Given the description of an element on the screen output the (x, y) to click on. 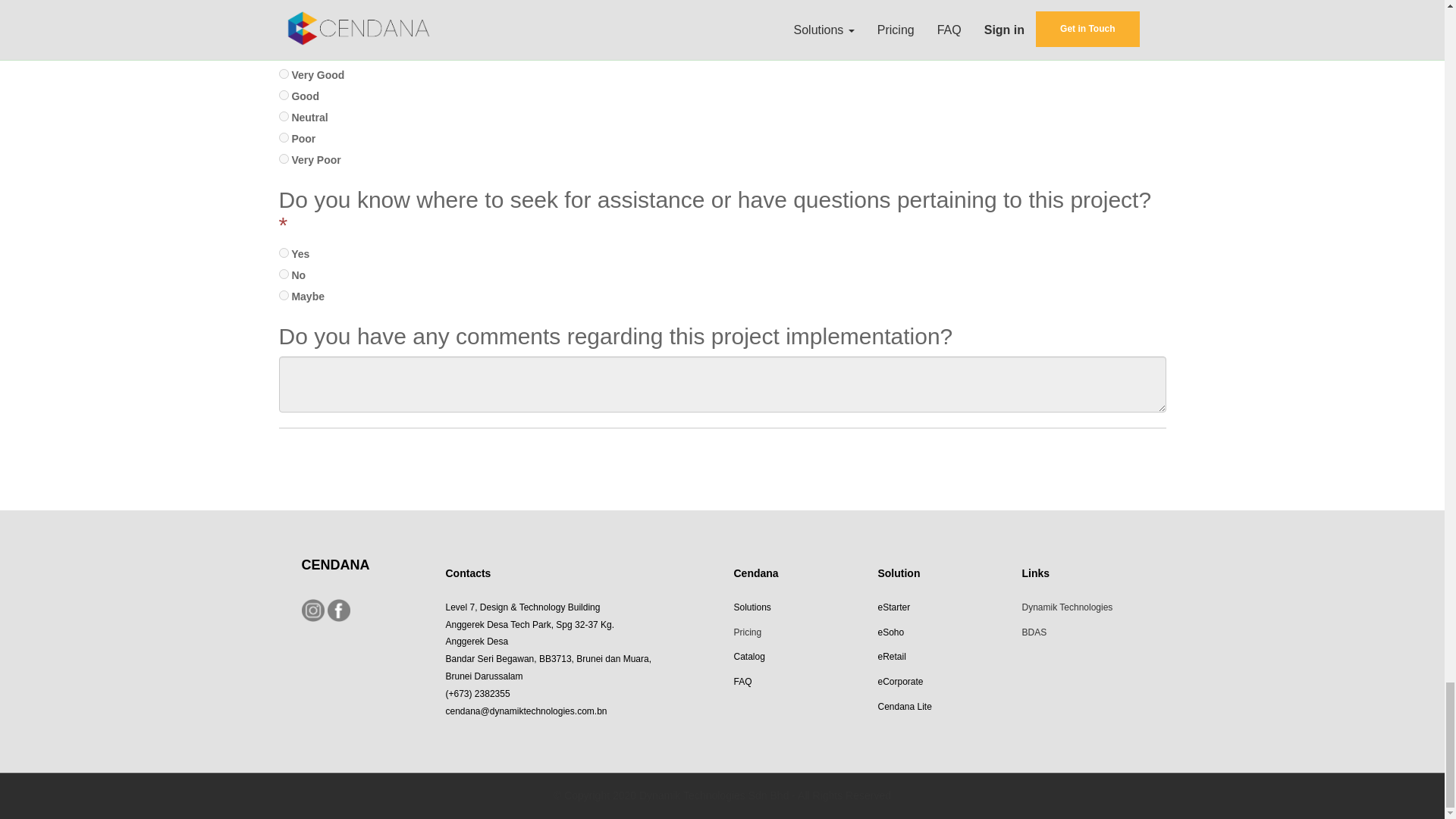
Pricing (747, 631)
BDAS (1034, 631)
eSoho (890, 631)
eRetail (891, 655)
Dynamik Technologies (1067, 605)
eStarter  (894, 605)
FAQ (742, 680)
Cendana Lite (904, 705)
Solutions (751, 605)
eCorporate (900, 680)
